Given the description of an element on the screen output the (x, y) to click on. 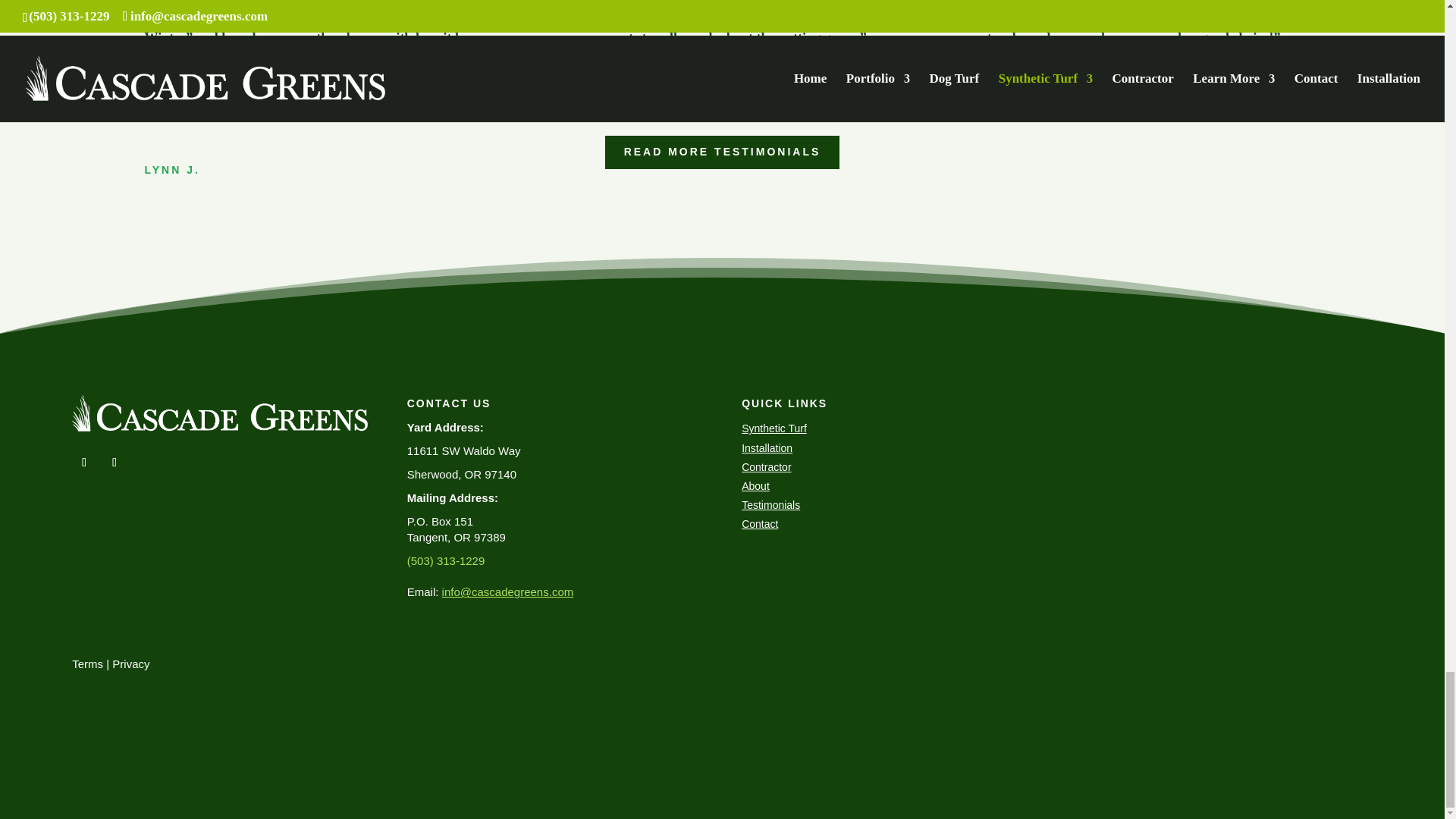
Follow on Instagram (113, 462)
Follow on Facebook (83, 462)
